Given the description of an element on the screen output the (x, y) to click on. 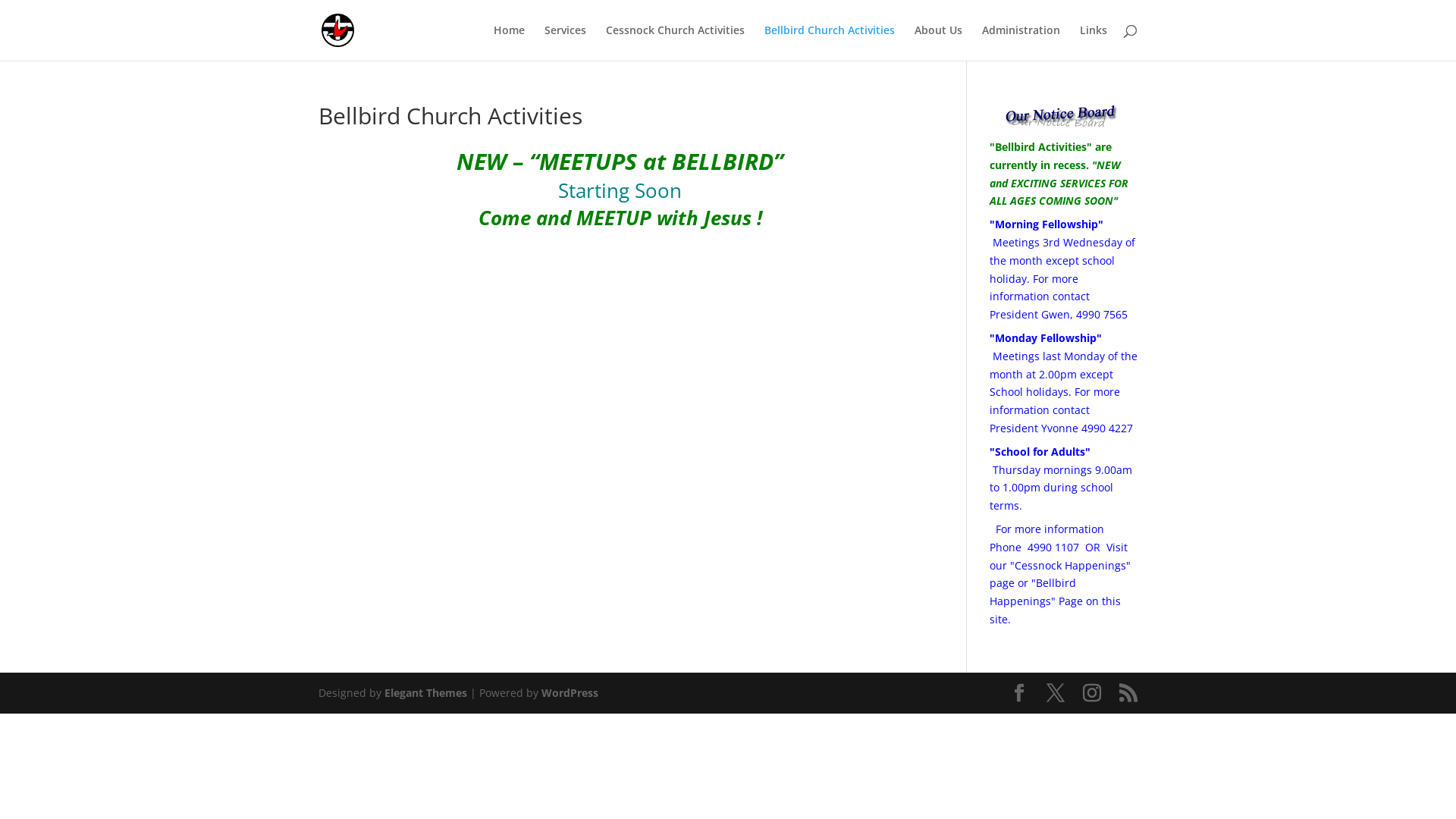
Links Element type: text (1093, 42)
Cessnock Church Activities Element type: text (674, 42)
About Us Element type: text (938, 42)
Bellbird Church Activities Element type: text (829, 42)
Elegant Themes Element type: text (425, 692)
WordPress Element type: text (569, 692)
Administration Element type: text (1021, 42)
Home Element type: text (508, 42)
Services Element type: text (565, 42)
